Given the description of an element on the screen output the (x, y) to click on. 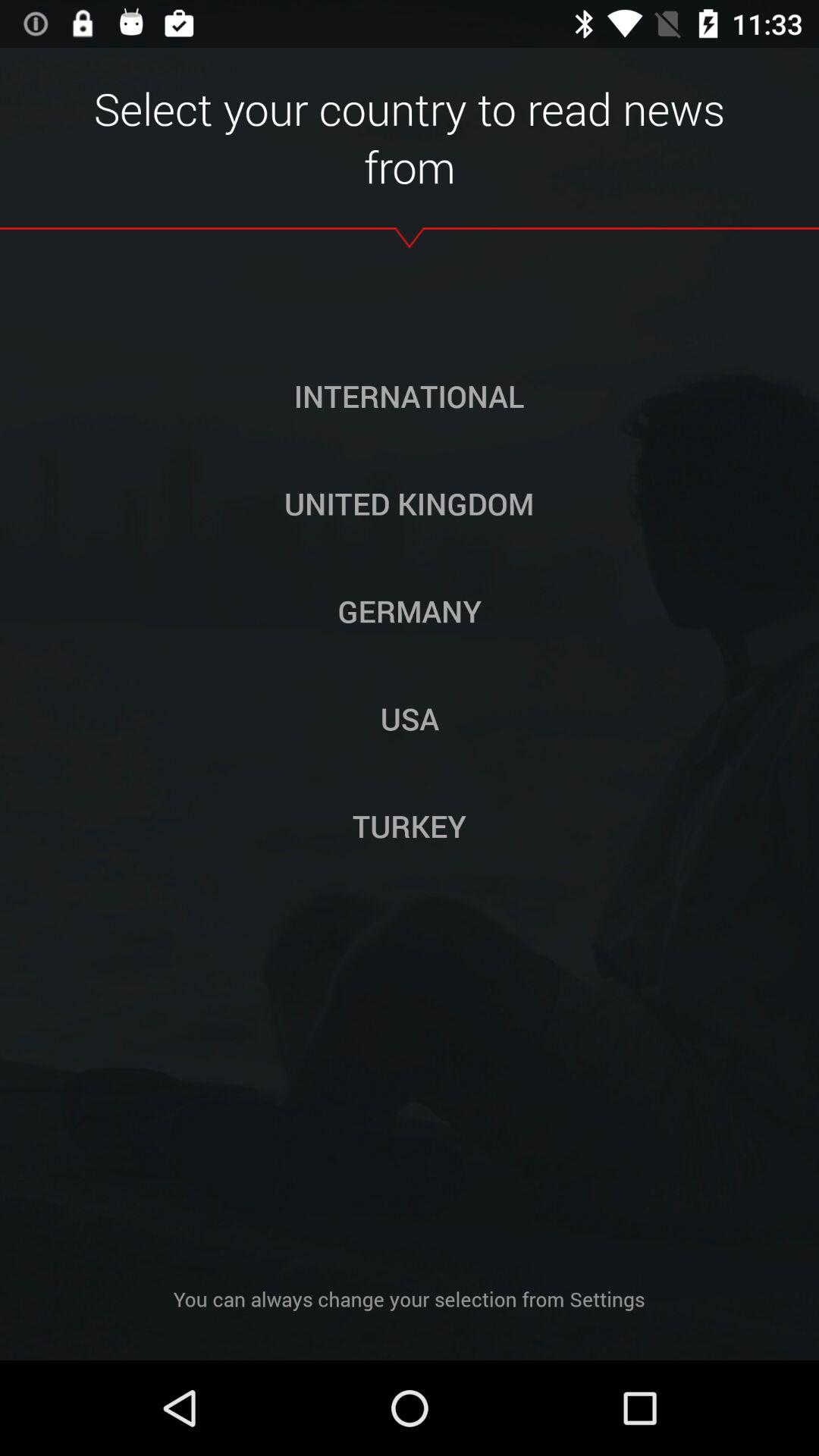
turn on the button above germany icon (409, 503)
